Given the description of an element on the screen output the (x, y) to click on. 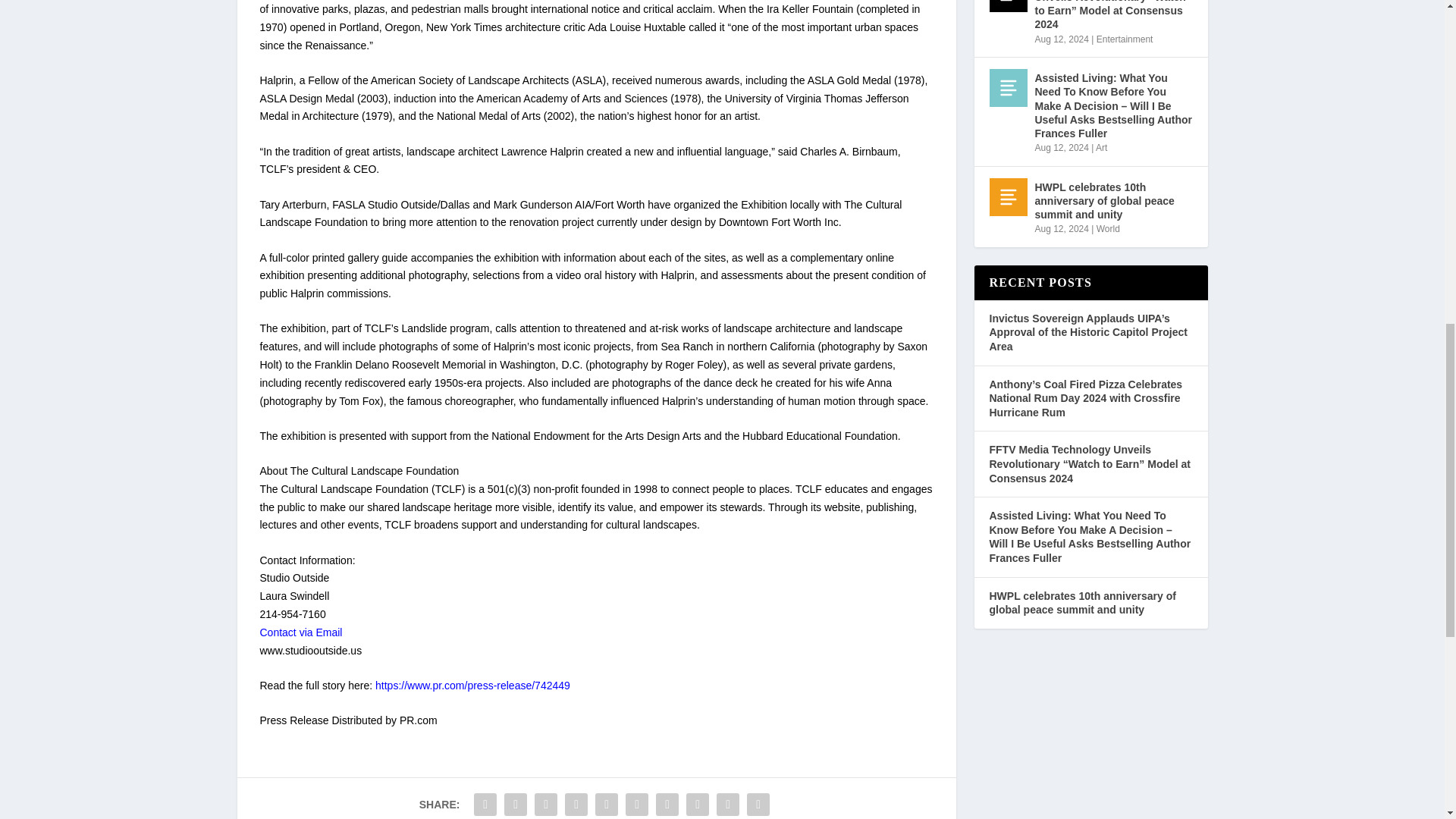
Contact via Email (300, 632)
